Given the description of an element on the screen output the (x, y) to click on. 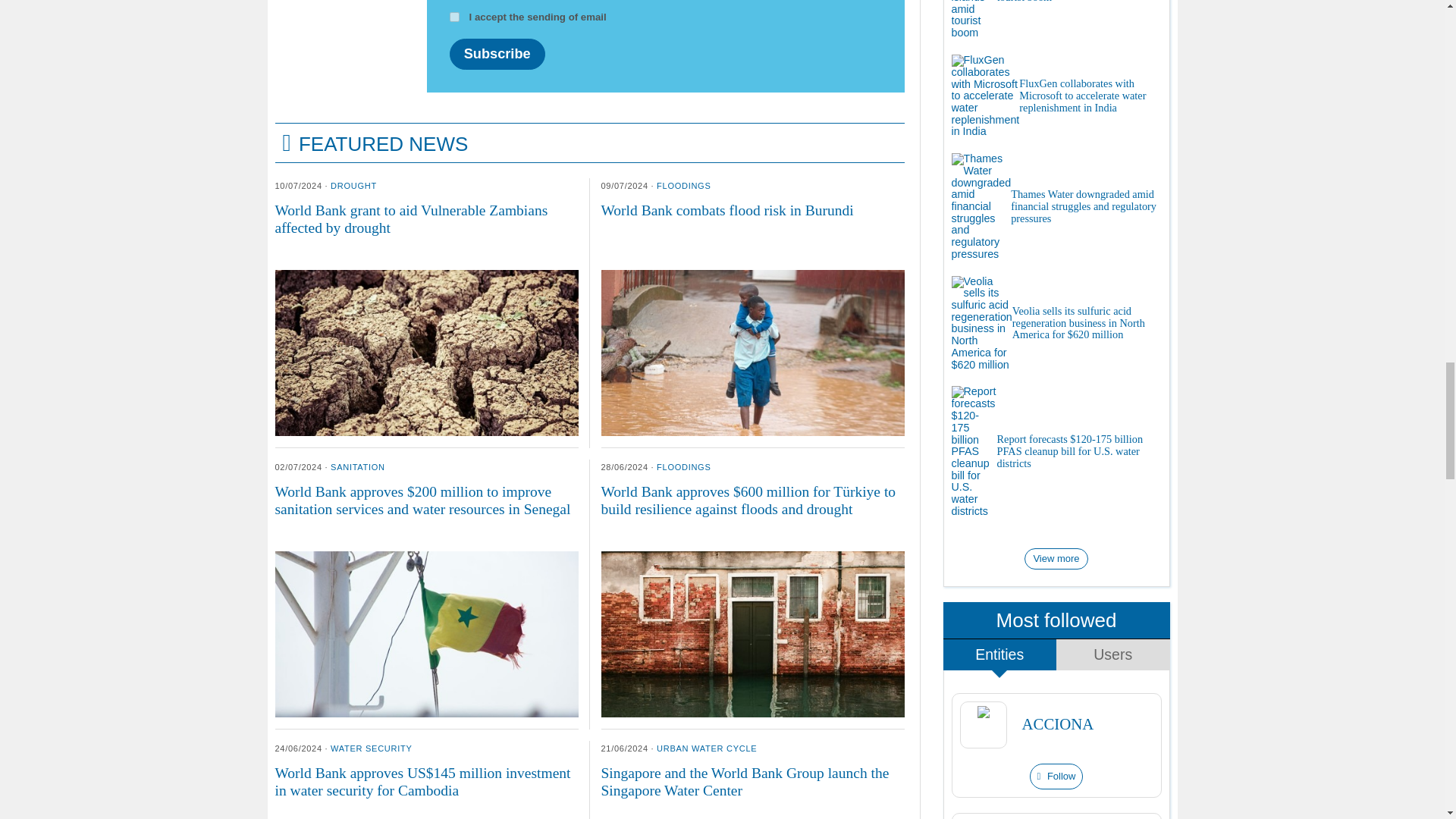
View more articles of Floodings (683, 185)
Subscribe (496, 53)
Y (453, 17)
View more articles of Drought (353, 185)
